Given the description of an element on the screen output the (x, y) to click on. 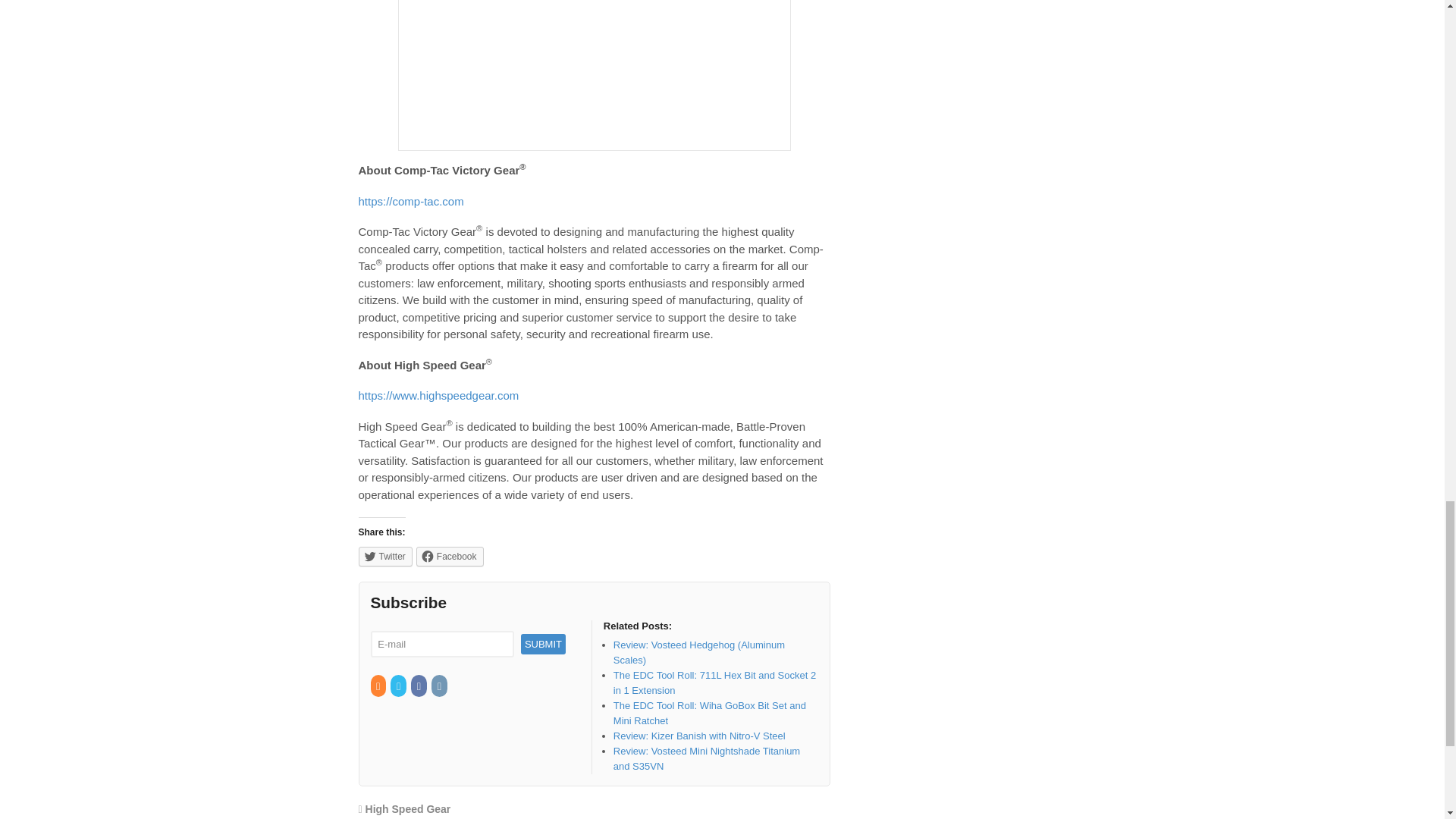
Twitter (398, 686)
Twitter (385, 556)
The EDC Tool Roll: 711L Hex Bit and Socket 2 in 1 Extension (713, 682)
Facebook (419, 686)
Review: Kizer Banish with Nitro-V Steel (699, 736)
High Speed Gear (408, 808)
Submit (543, 643)
Click to share on Facebook (449, 556)
Instagram (439, 686)
The EDC Tool Roll: 711L Hex Bit and Socket 2 in 1 Extension (713, 682)
